Given the description of an element on the screen output the (x, y) to click on. 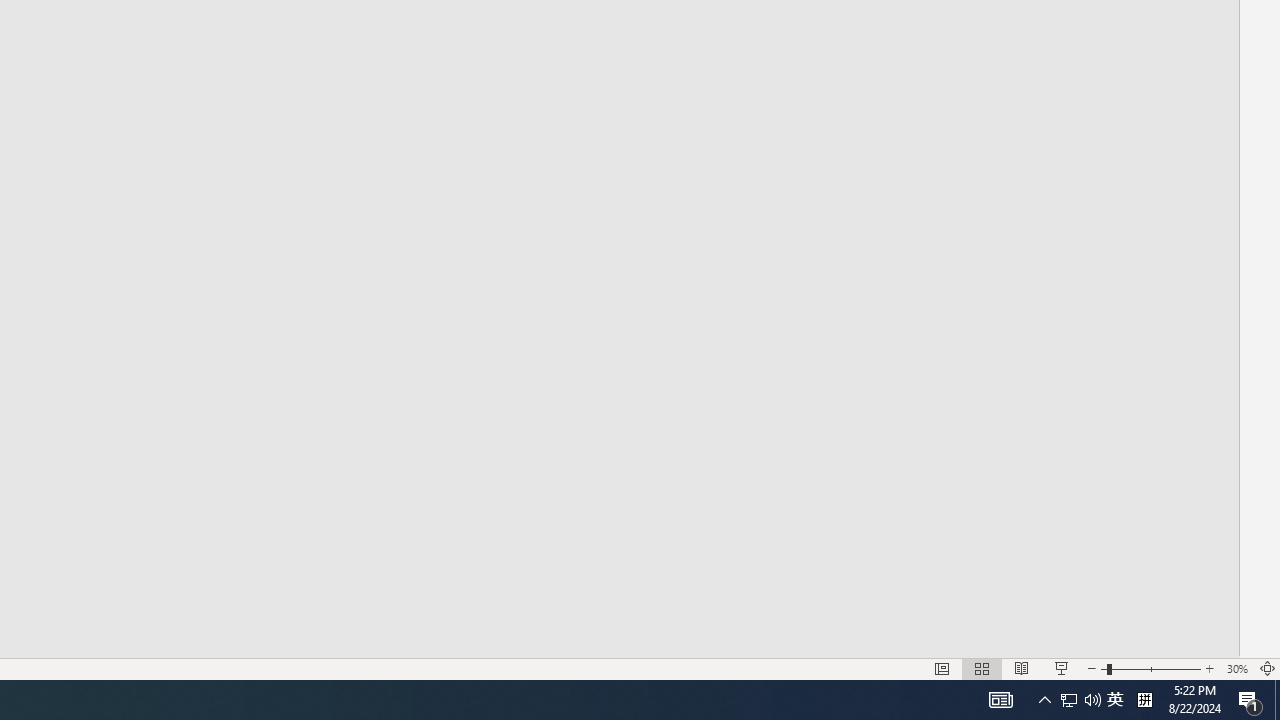
Zoom to Fit  (1267, 668)
Zoom 30% (1236, 668)
